Given the description of an element on the screen output the (x, y) to click on. 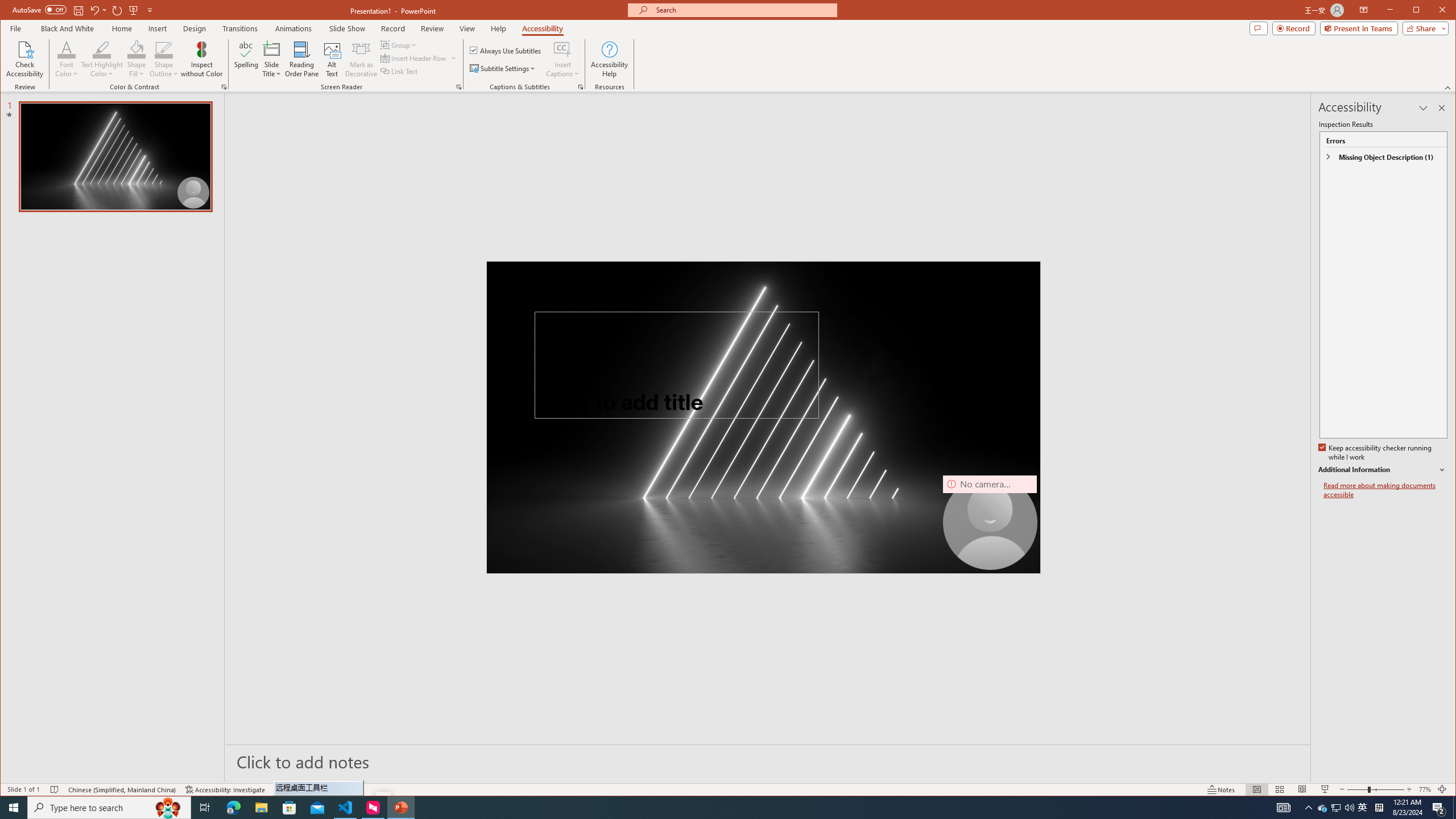
Reading Order Pane (301, 59)
Zoom 77% (1424, 789)
Group (399, 44)
